Given the description of an element on the screen output the (x, y) to click on. 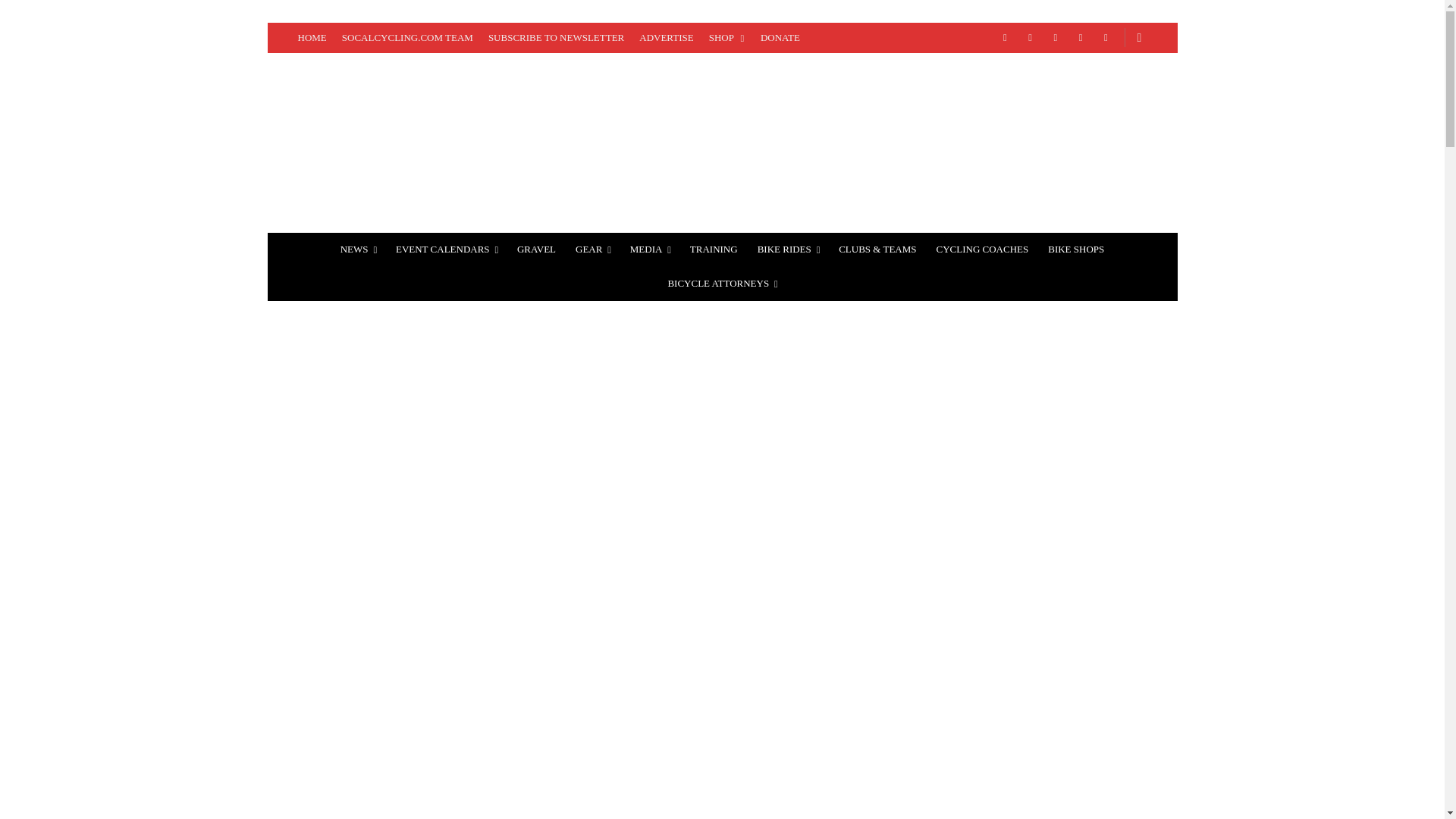
SUBSCRIBE TO NEWSLETTER (555, 37)
DONATE (780, 37)
SOCALCYCLING.COM TEAM (407, 37)
NEWS (357, 249)
SHOP (726, 37)
HOME (311, 37)
ADVERTISE (665, 37)
